Given the description of an element on the screen output the (x, y) to click on. 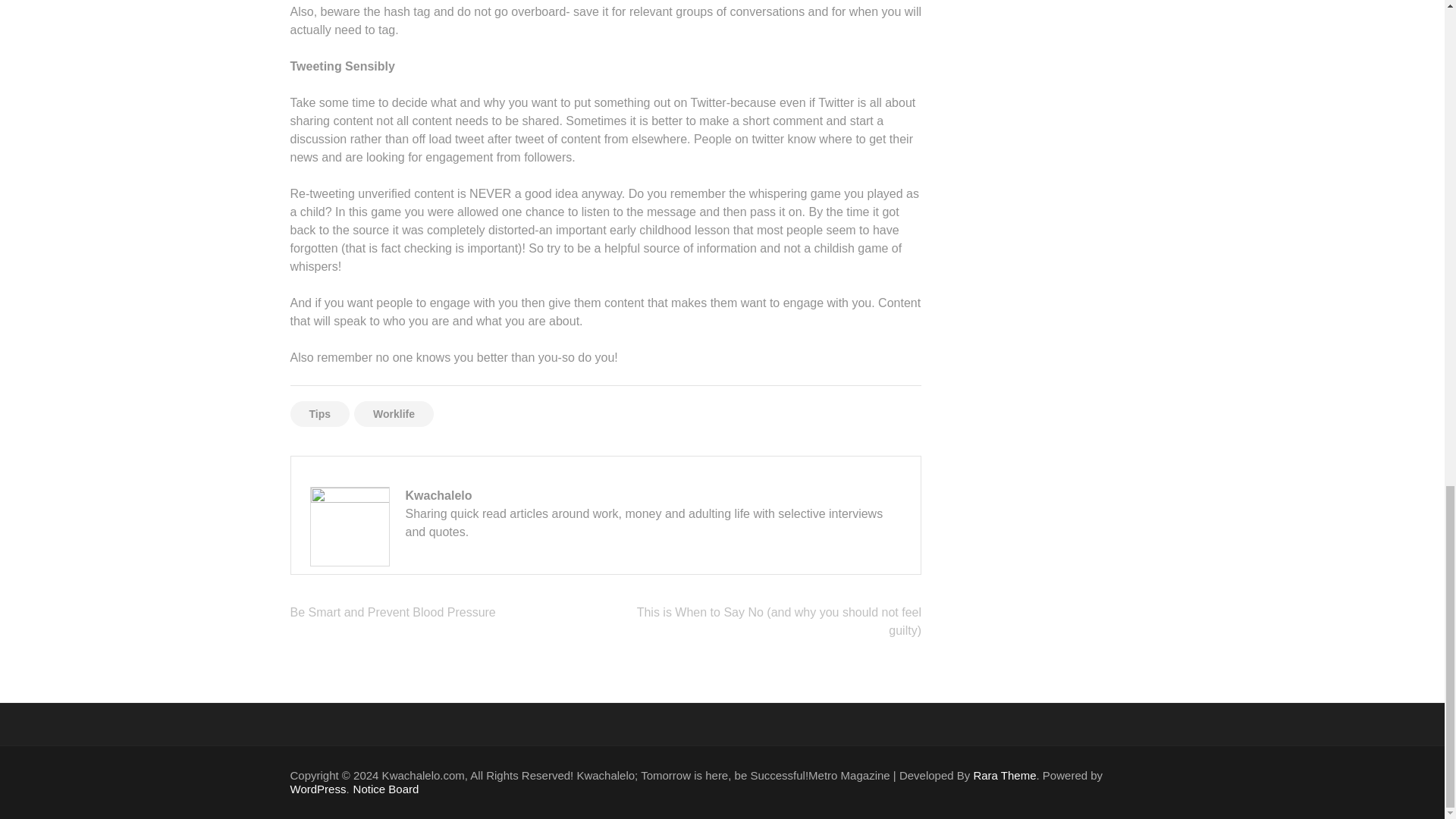
Tips (319, 413)
Be Smart and Prevent Blood Pressure (392, 612)
Worklife (393, 413)
